Given the description of an element on the screen output the (x, y) to click on. 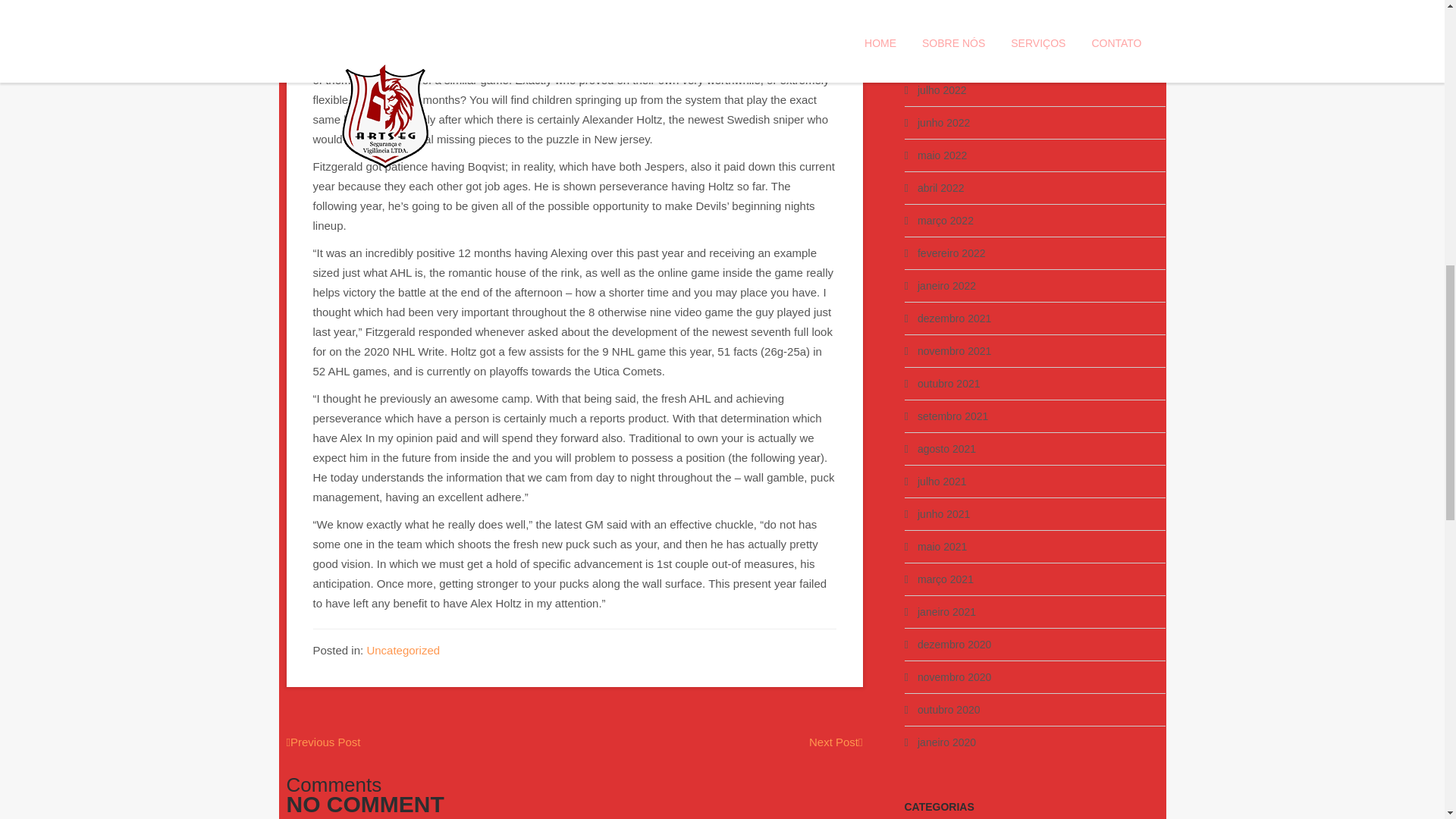
janeiro 2022 (946, 285)
fevereiro 2022 (951, 253)
junho 2021 (943, 513)
Uncategorized (402, 649)
abril 2022 (940, 187)
julho 2022 (941, 90)
maio 2022 (941, 155)
setembro 2022 (952, 24)
agosto 2022 (946, 57)
junho 2022 (943, 122)
maio 2021 (941, 546)
agosto 2021 (946, 449)
Previous Post (323, 741)
dezembro 2021 (954, 318)
